Given the description of an element on the screen output the (x, y) to click on. 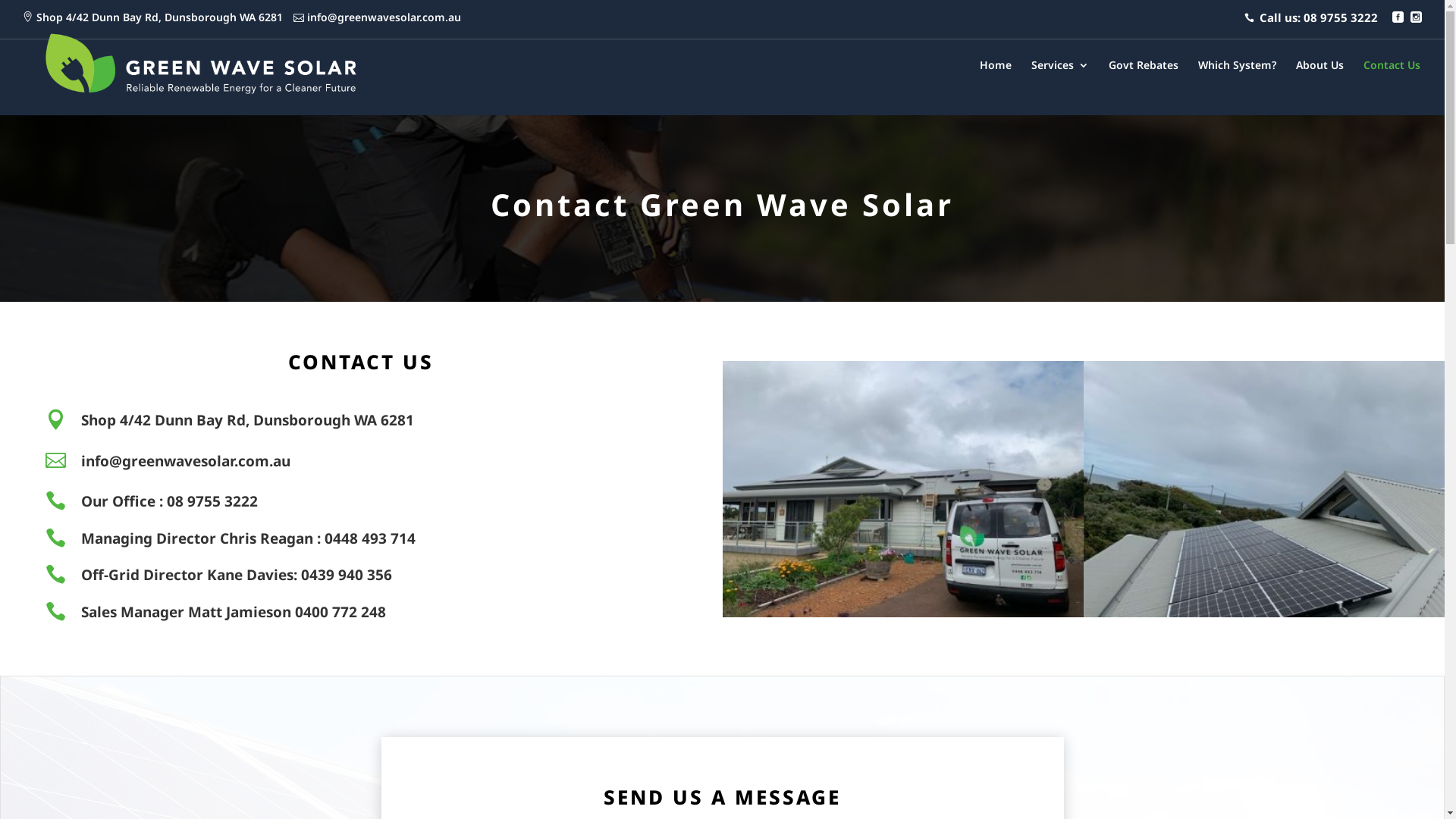
About Us Element type: text (1319, 85)
Call us: 08 9755 3222 Element type: text (1310, 21)
Govt Rebates Element type: text (1143, 85)
Contact Us Element type: text (1391, 85)
Services Element type: text (1059, 85)
Off-Grid Director Kane Davies: 0439 940 356 Element type: text (236, 574)
residential-solar-power-augusta Element type: hover (901, 612)
Managing Director Chris Reagan : 0448 493 714 Element type: text (248, 538)
Our Office : 08 9755 3222 Element type: text (169, 501)
Sales Manager Matt Jamieson 0400 772 248 Element type: text (233, 611)
Which System? Element type: text (1237, 85)
Home Element type: text (995, 85)
residential-solar-power-augusta Element type: hover (1263, 612)
info@greenwavesolar.com.au Element type: text (384, 16)
